Given the description of an element on the screen output the (x, y) to click on. 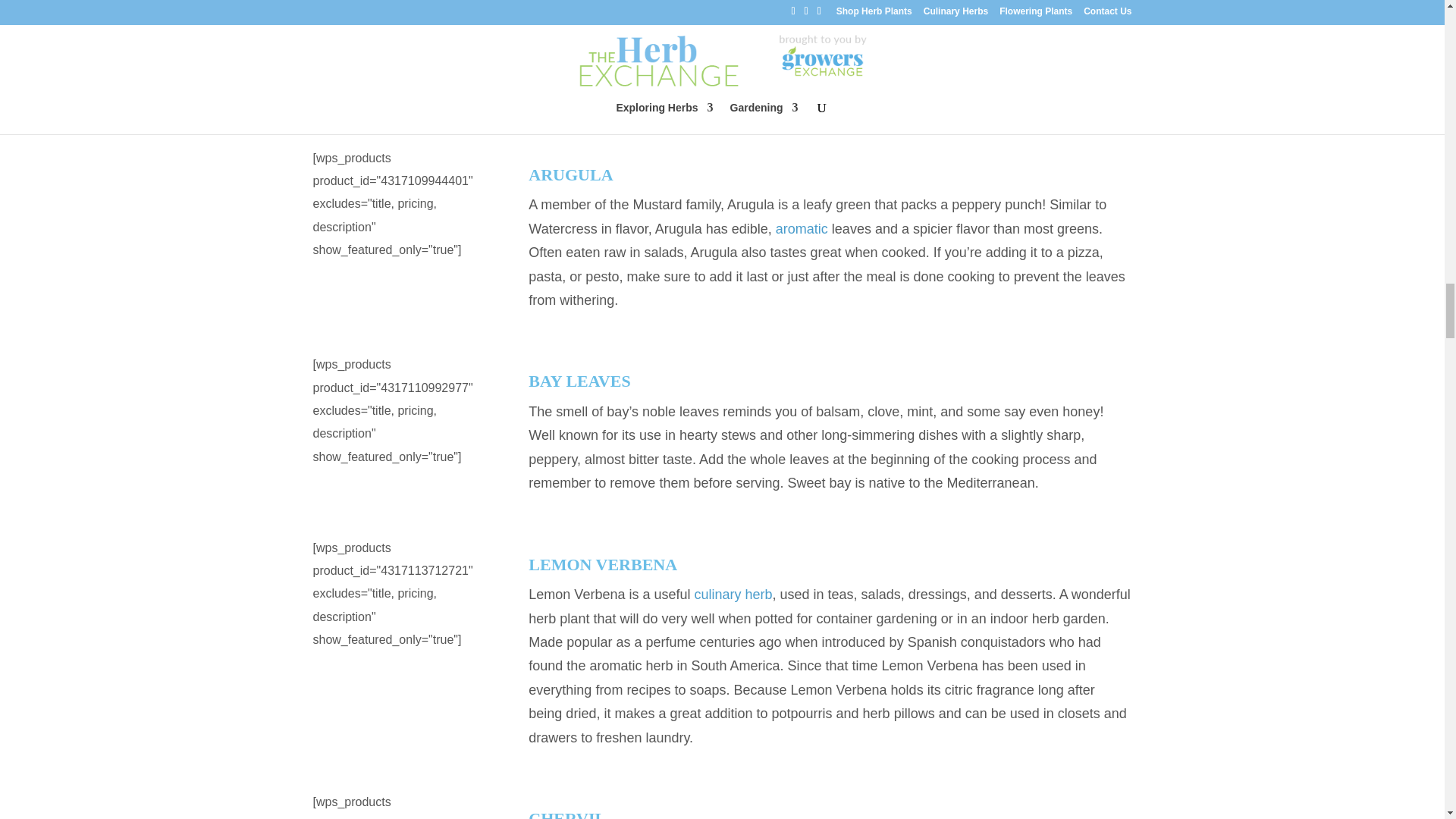
culinary herb (732, 594)
Aromatic Herbs (802, 228)
culinary herb (732, 594)
aromatic (802, 228)
